Given the description of an element on the screen output the (x, y) to click on. 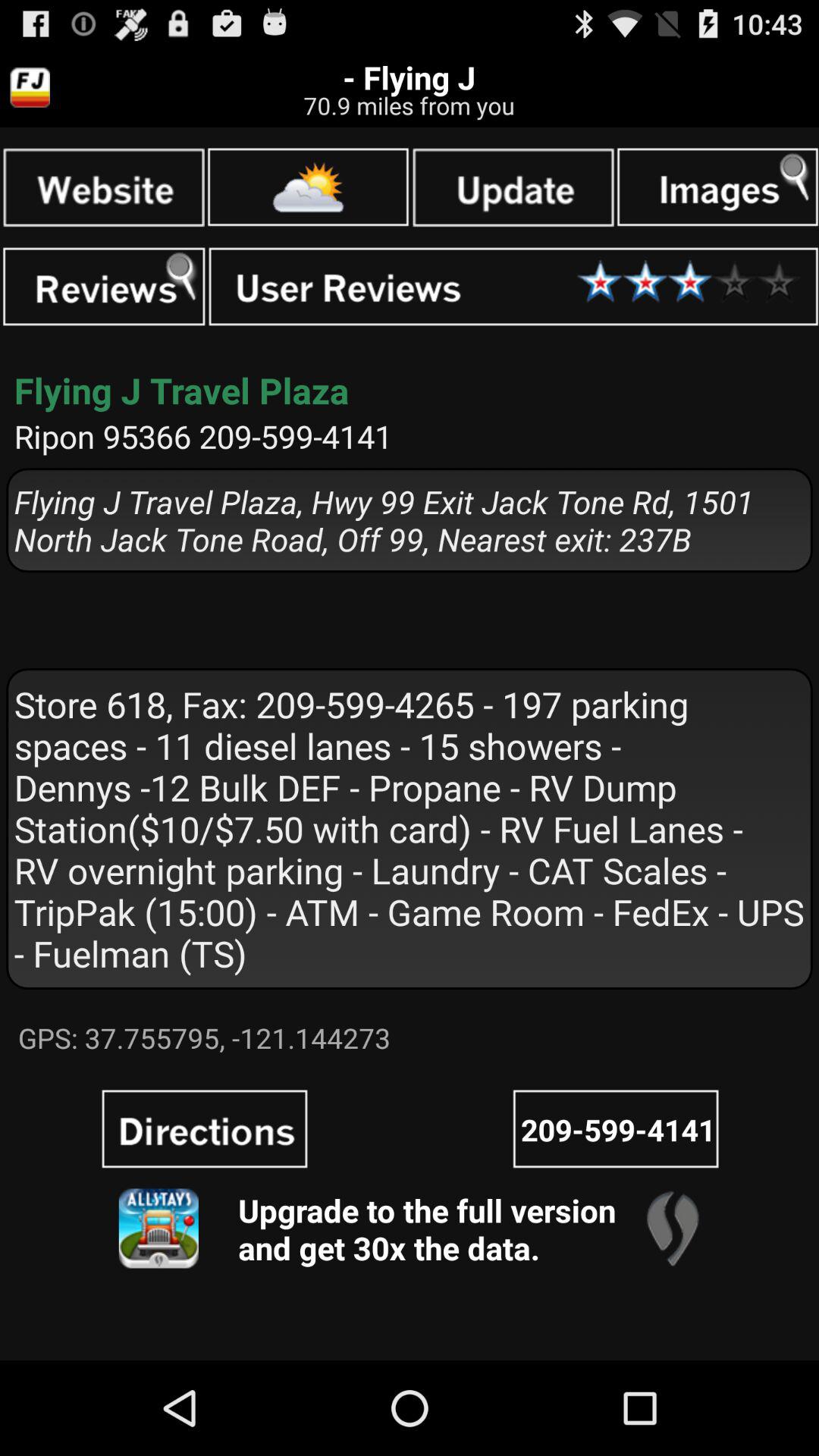
version get (158, 1228)
